Given the description of an element on the screen output the (x, y) to click on. 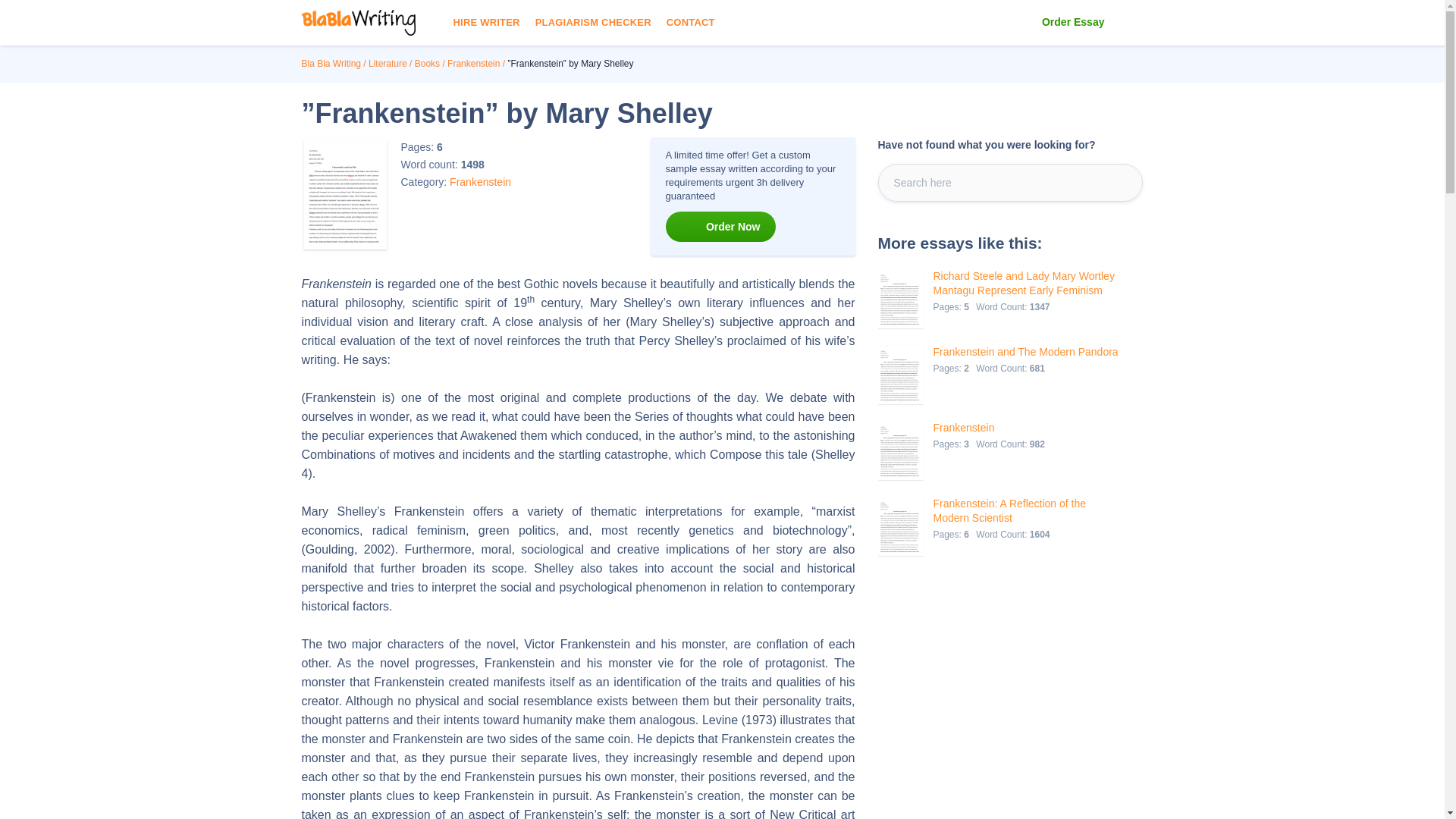
Books. (426, 63)
Frankenstein (990, 427)
Order Essay (1073, 22)
CONTACT (690, 22)
Literature (387, 63)
Frankenstein (480, 182)
Frankenstein (472, 63)
Frankenstein and The Modern Pandora (1025, 351)
Literature. (387, 63)
